Given the description of an element on the screen output the (x, y) to click on. 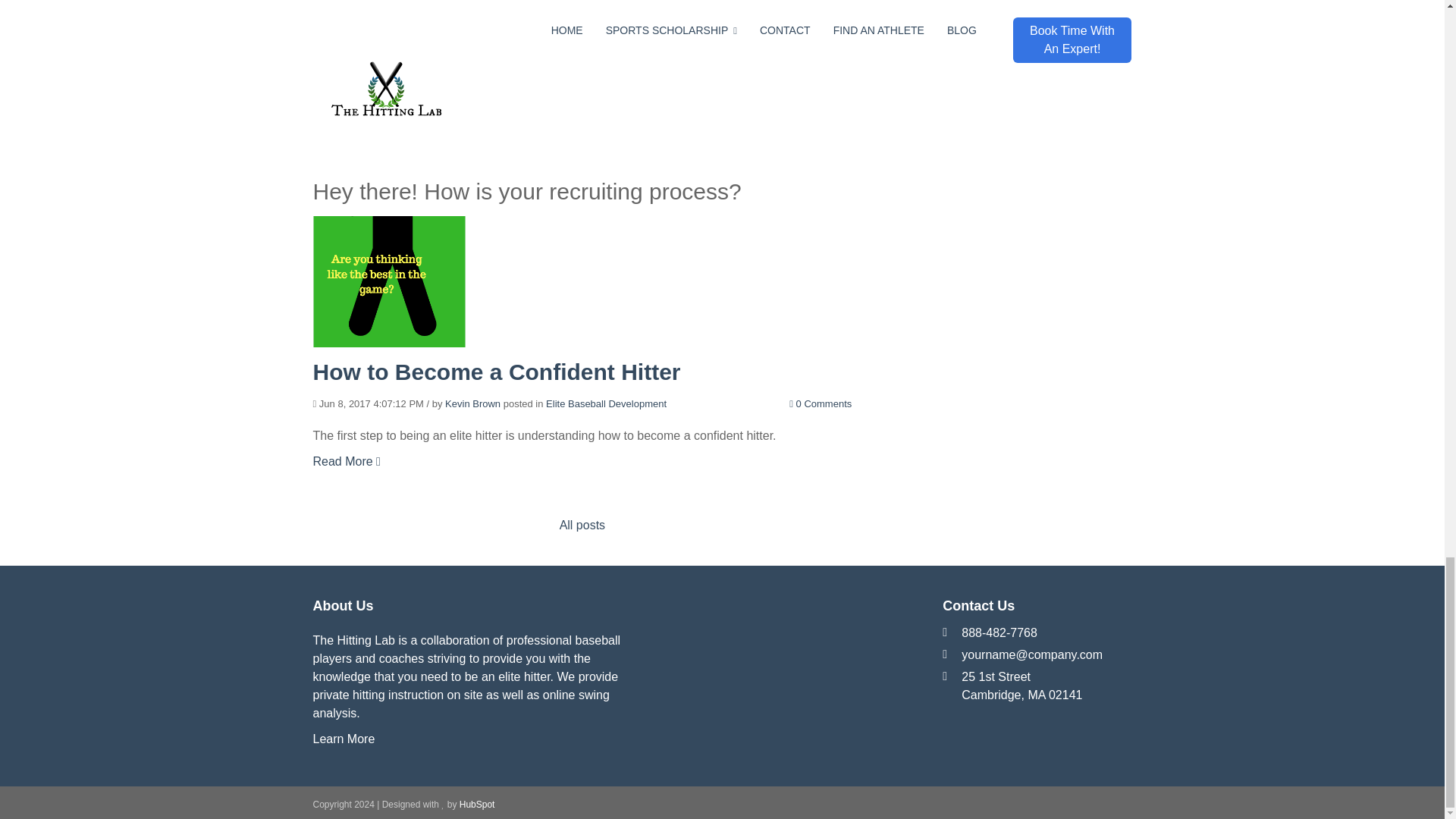
Kevin Brown (472, 403)
Read More (346, 56)
Elite Baseball Development (606, 403)
How to Become a Confident Hitter (496, 371)
